Given the description of an element on the screen output the (x, y) to click on. 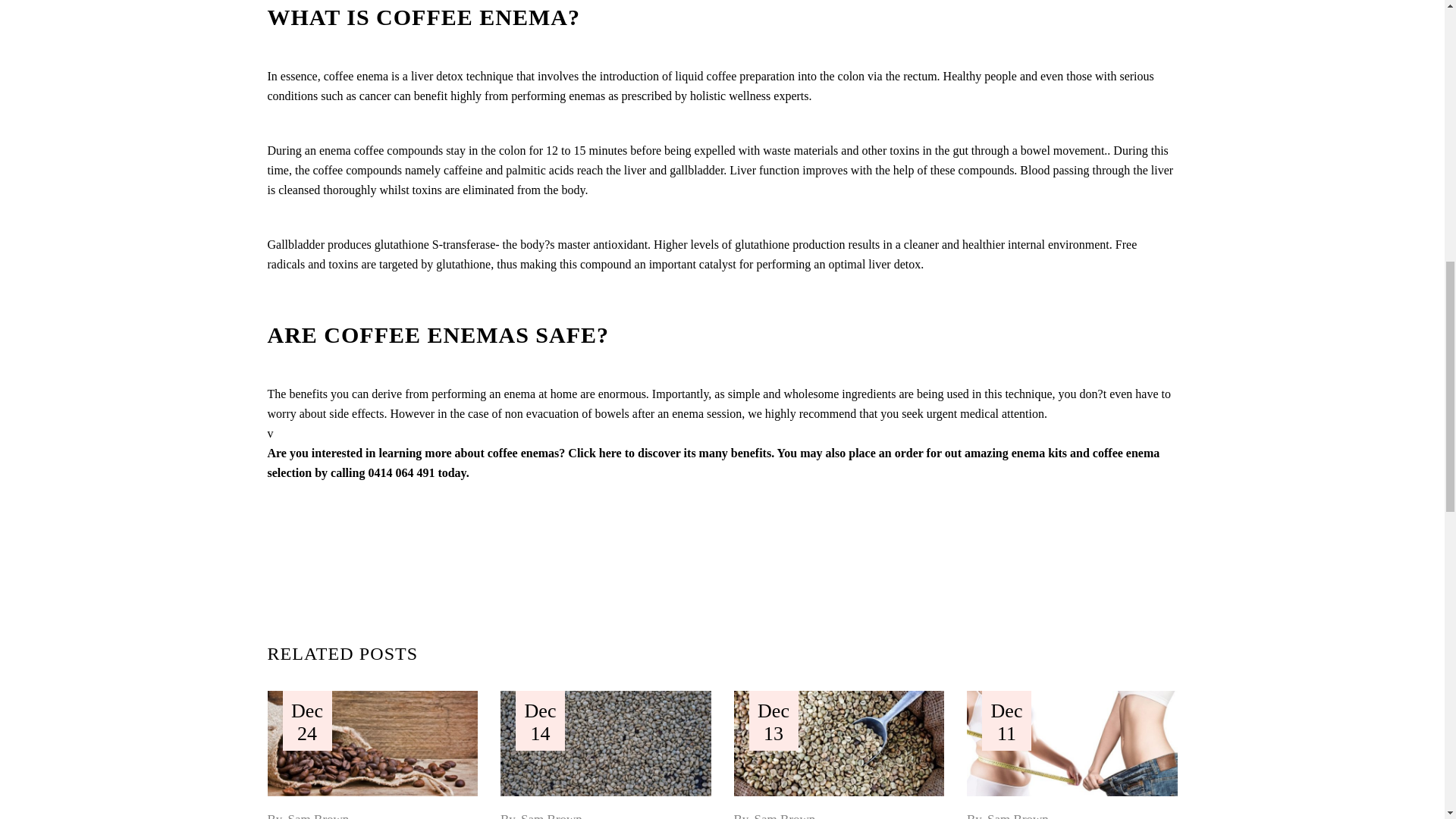
Which is Better for Coffee Enema- Light or Dark Roast? (605, 743)
How to Use Green Coffee Powder for Weight Loss (1071, 743)
Where to Buy Green Coffee Beans for Enema? (371, 743)
